Given the description of an element on the screen output the (x, y) to click on. 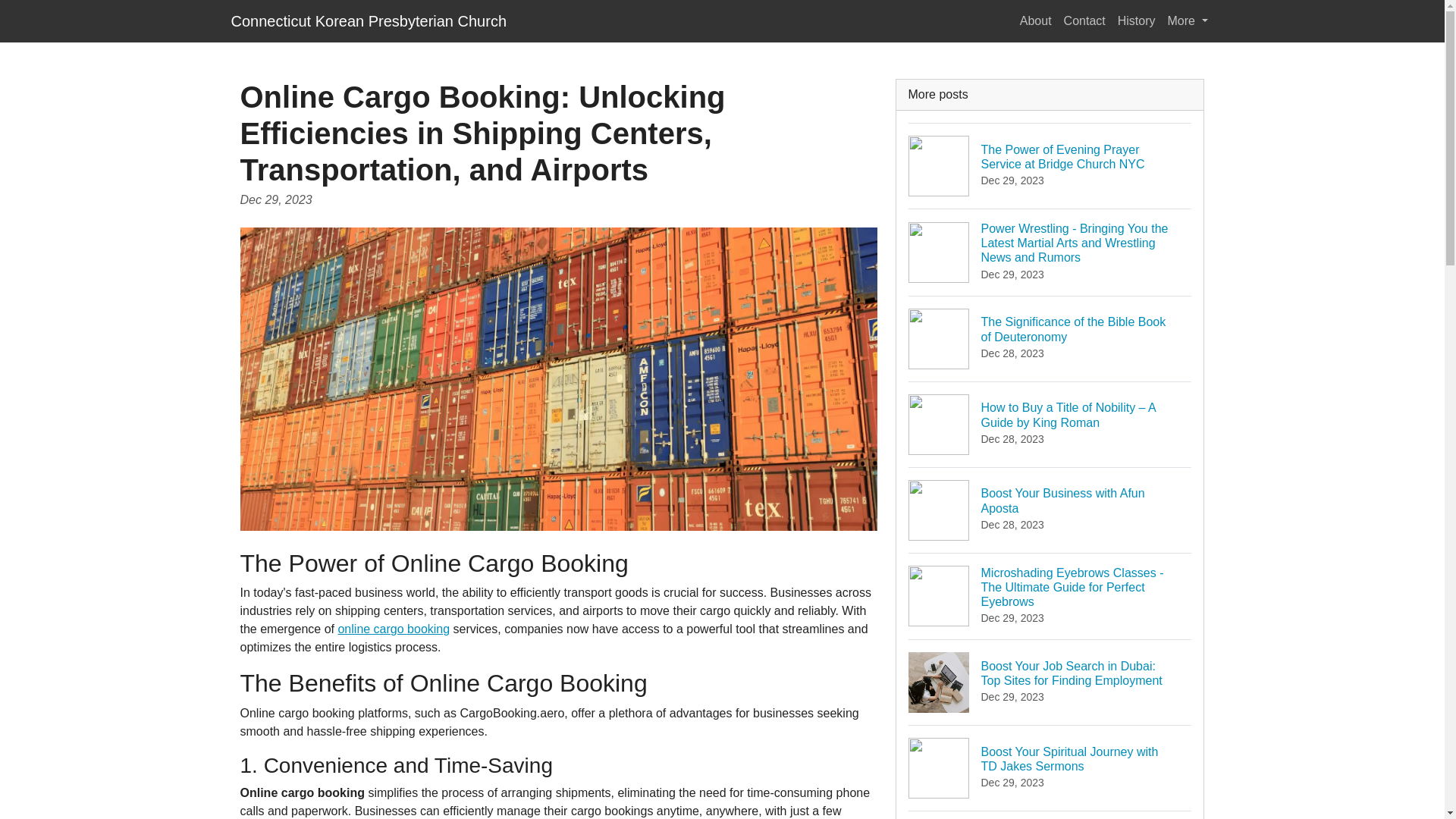
online cargo booking (393, 628)
History (1136, 20)
More (1050, 509)
Connecticut Korean Presbyterian Church (1187, 20)
About (368, 20)
